Given the description of an element on the screen output the (x, y) to click on. 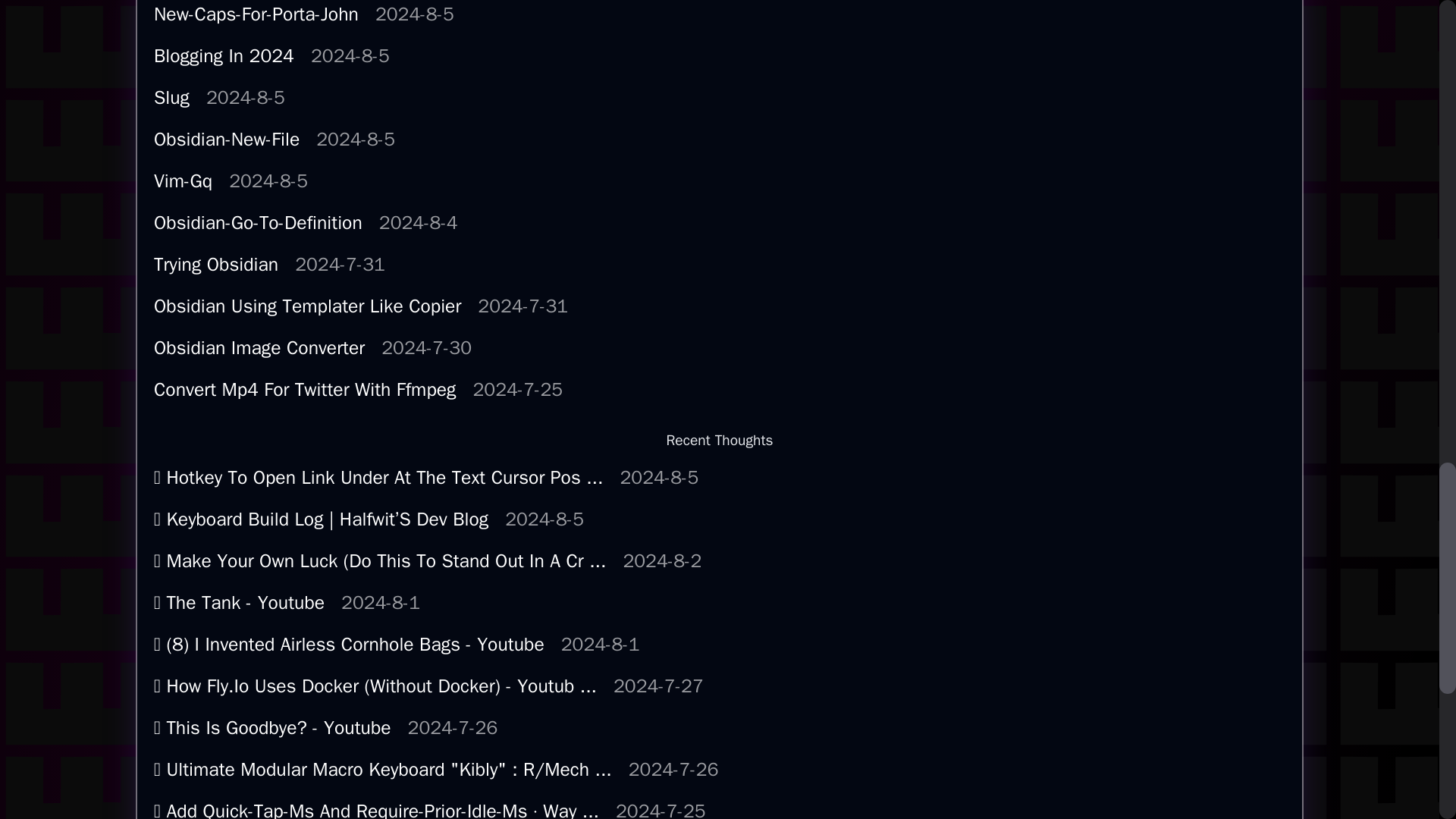
Thoughts (719, 223)
